Given the description of an element on the screen output the (x, y) to click on. 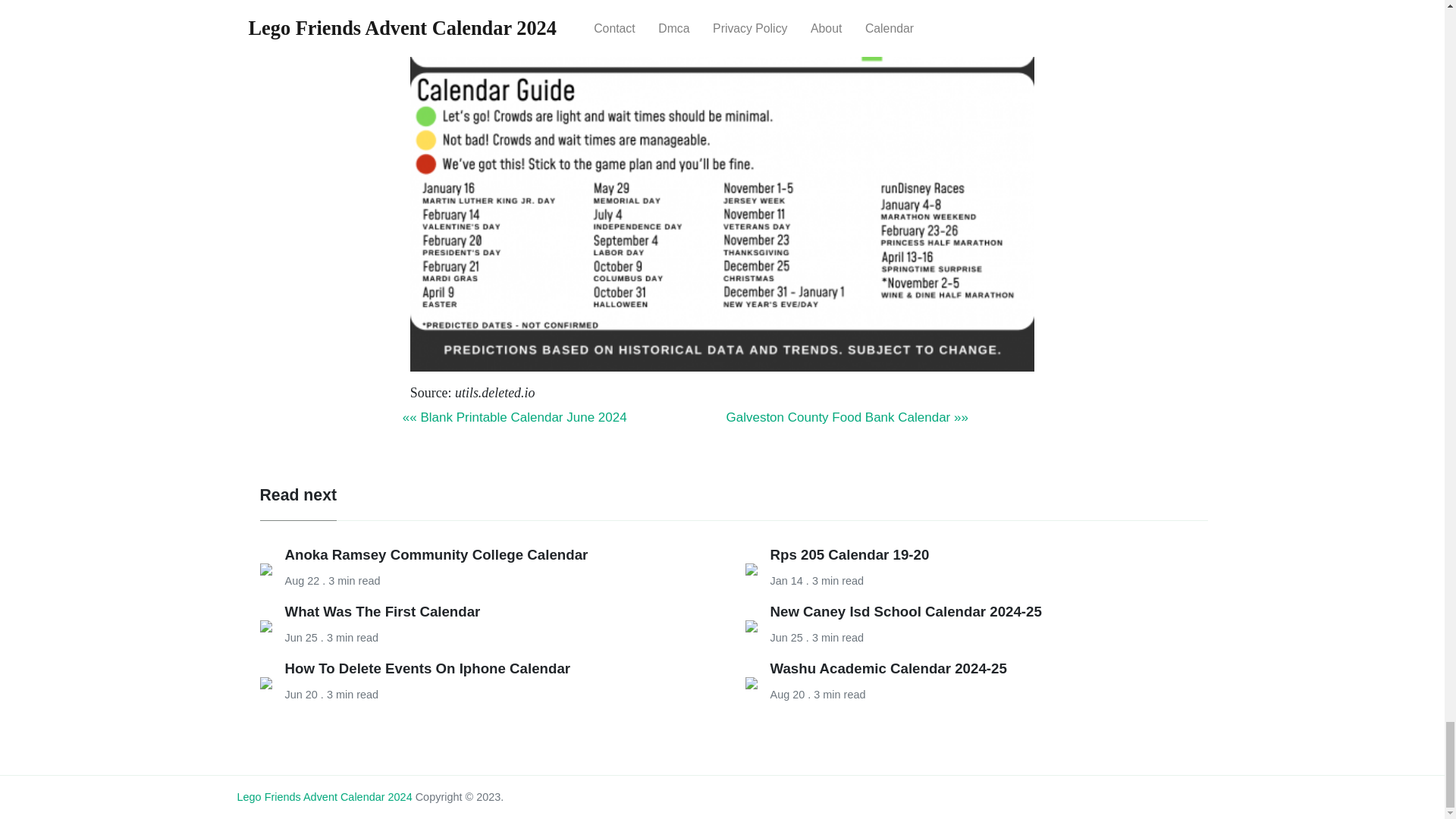
Rps 205 Calendar 19-20 (850, 554)
New Caney Isd School Calendar 2024-25 (906, 611)
What Was The First Calendar (382, 611)
How To Delete Events On Iphone Calendar (427, 668)
Lego Friends Advent Calendar 2024 (323, 797)
Anoka Ramsey Community College Calendar (436, 554)
Washu Academic Calendar 2024-25 (888, 668)
